Given the description of an element on the screen output the (x, y) to click on. 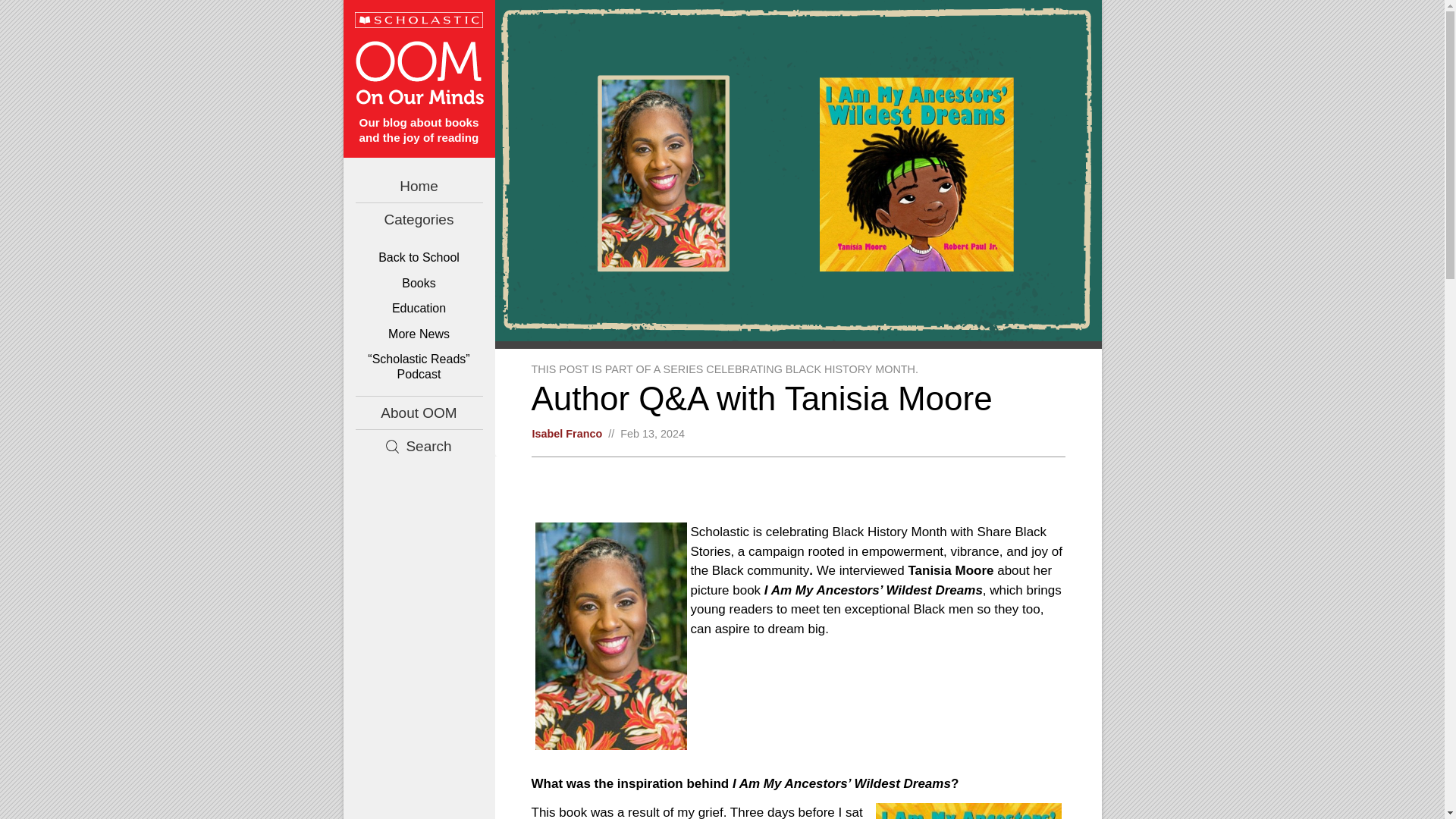
Search (418, 445)
Isabel Franco (567, 433)
View user profile. (567, 433)
Home (418, 185)
Education (418, 308)
Books (418, 282)
About OOM (418, 412)
More News (418, 334)
Categories (419, 219)
Our blog about books and the joy of reading (418, 92)
Back to School (419, 257)
